Given the description of an element on the screen output the (x, y) to click on. 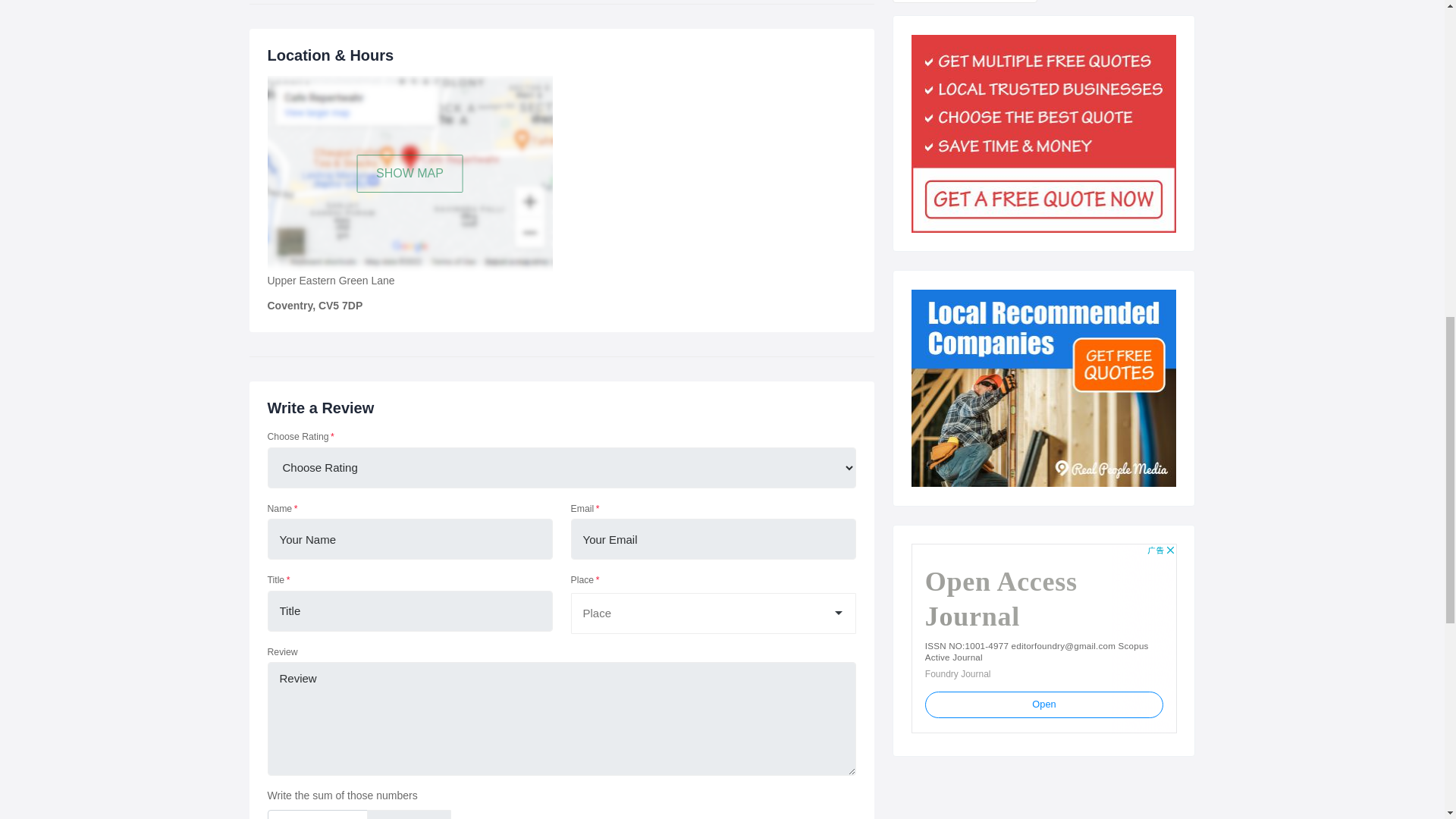
Share (963, 1)
Advertisement (1043, 638)
UK Business Directory (1043, 387)
Get a Free Quote (1043, 133)
SHOW MAP (409, 173)
